Given the description of an element on the screen output the (x, y) to click on. 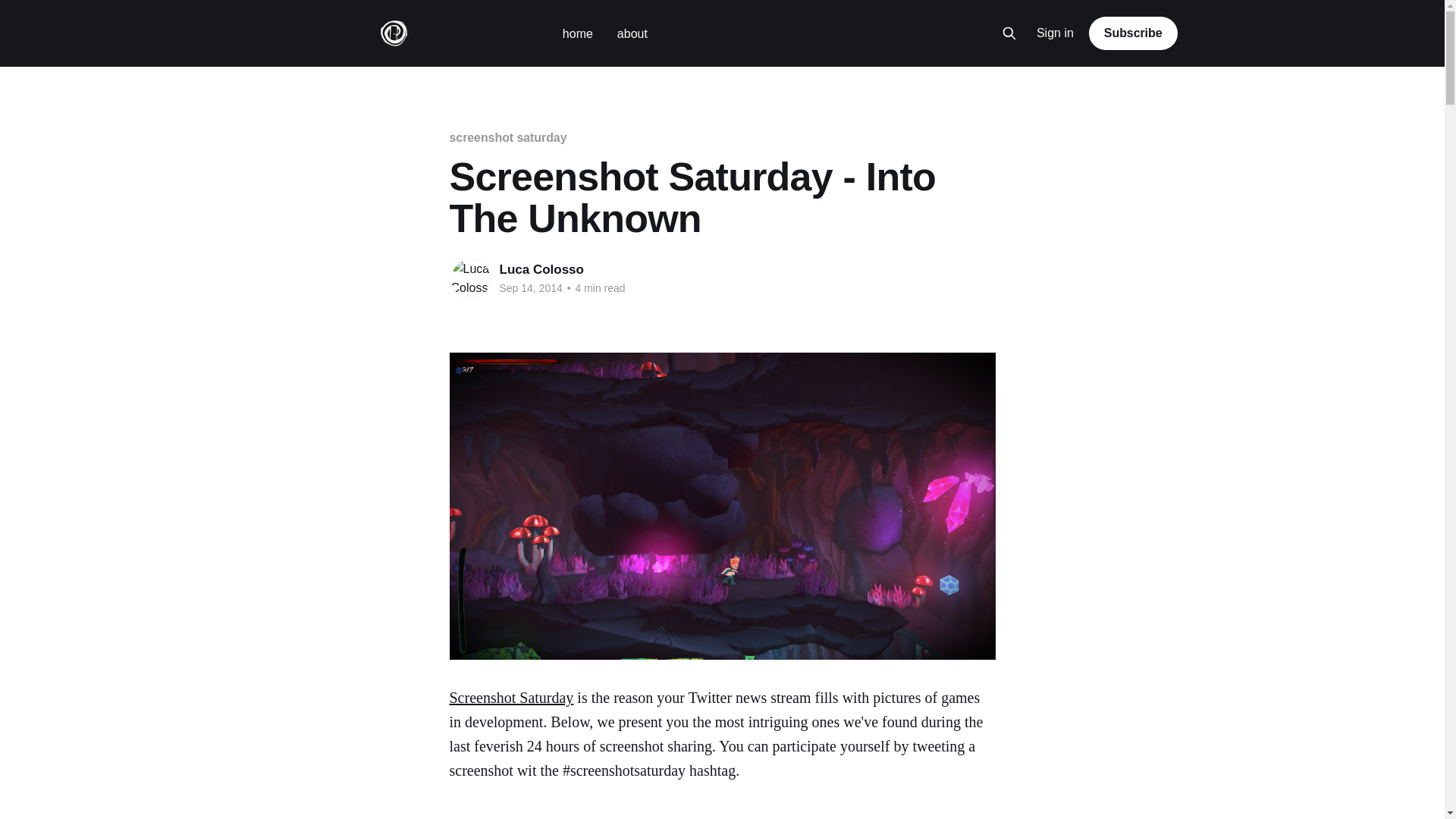
Screenshot Saturday (510, 697)
about (632, 33)
screenshot saturday (507, 137)
home (577, 33)
Luca Colosso (541, 269)
Sign in (1055, 33)
Subscribe (1133, 32)
